Given the description of an element on the screen output the (x, y) to click on. 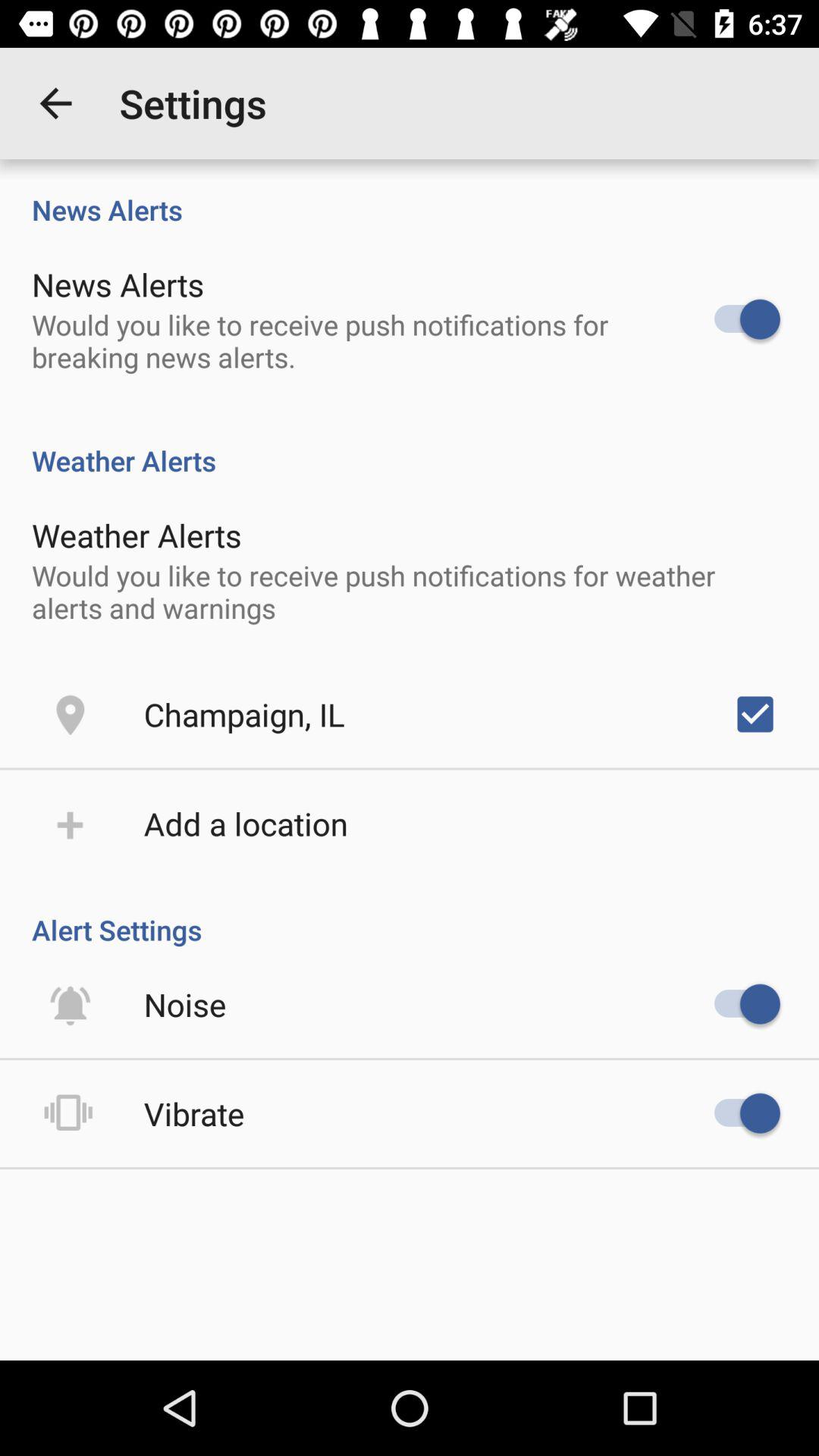
turn on the item above the add a location (243, 713)
